Given the description of an element on the screen output the (x, y) to click on. 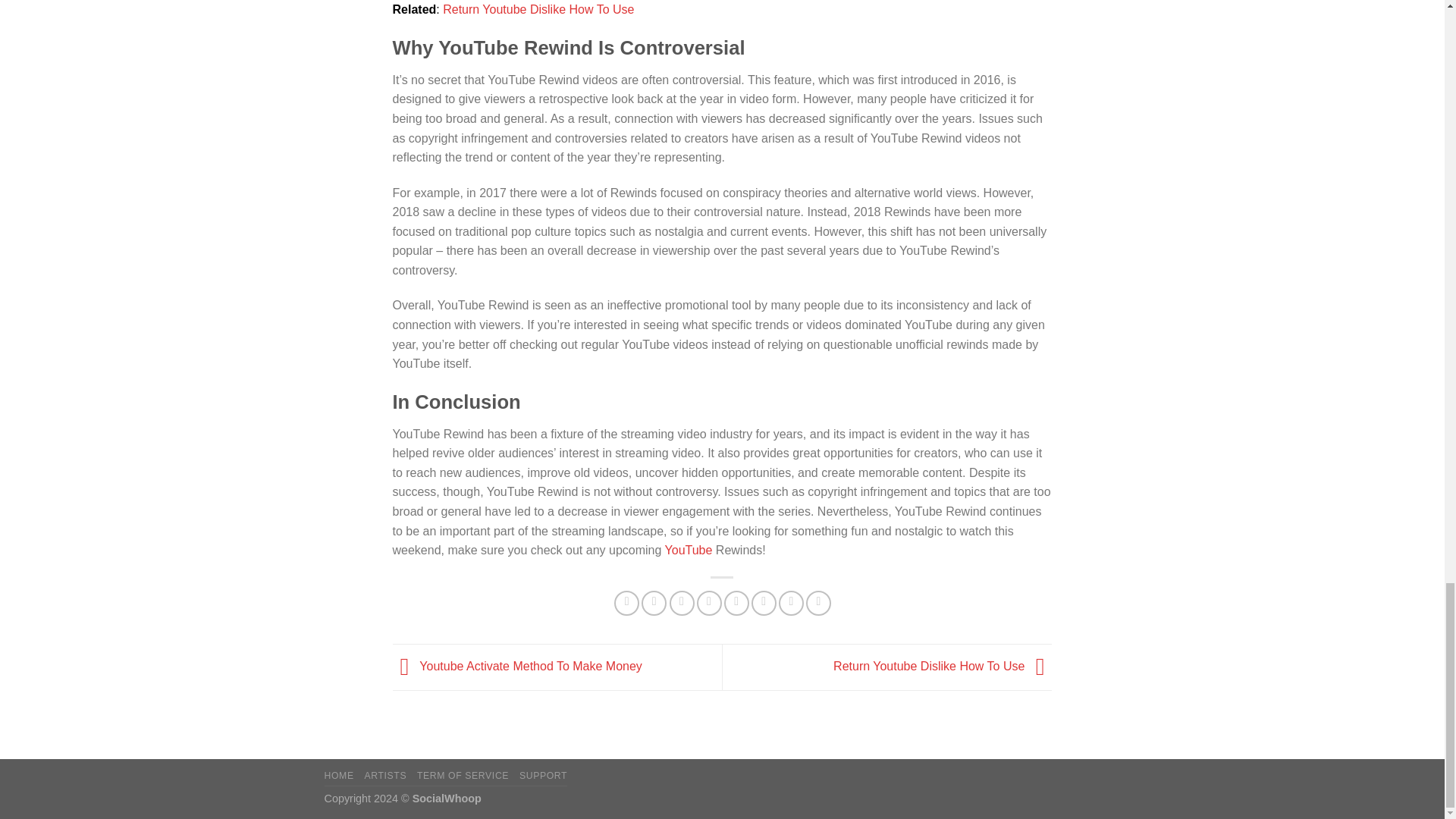
Return Youtube Dislike How To Use (941, 666)
Share on VKontakte (736, 602)
HOME (338, 775)
Share on LinkedIn (763, 602)
Share on Facebook (626, 602)
Share on Telegram (818, 602)
Share on Twitter (654, 602)
ARTISTS (385, 775)
TERM OF SERVICE (462, 775)
Pin on Pinterest (709, 602)
